Given the description of an element on the screen output the (x, y) to click on. 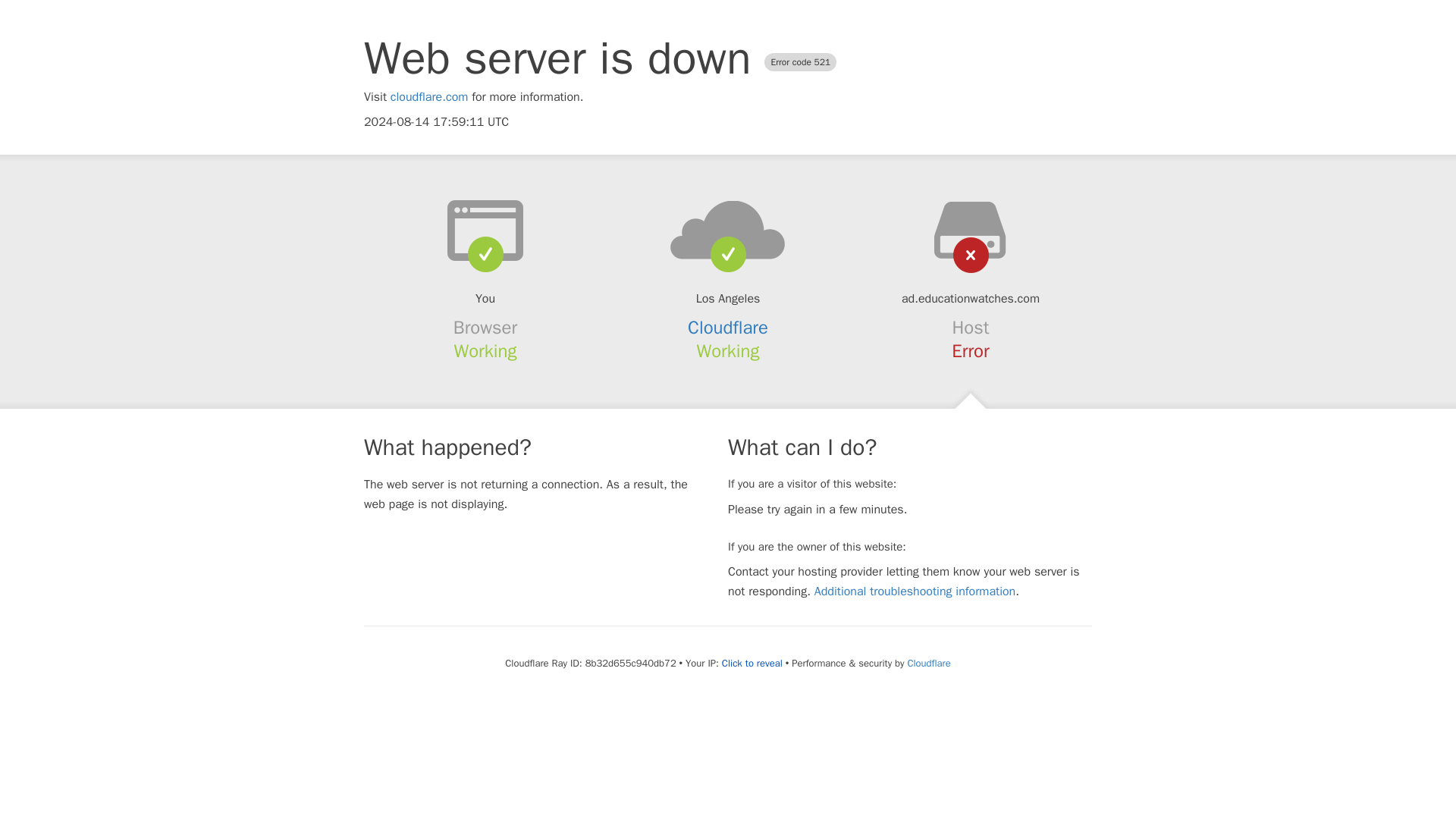
Cloudflare (727, 327)
Cloudflare (928, 662)
Additional troubleshooting information (913, 590)
cloudflare.com (429, 96)
Click to reveal (752, 663)
